Given the description of an element on the screen output the (x, y) to click on. 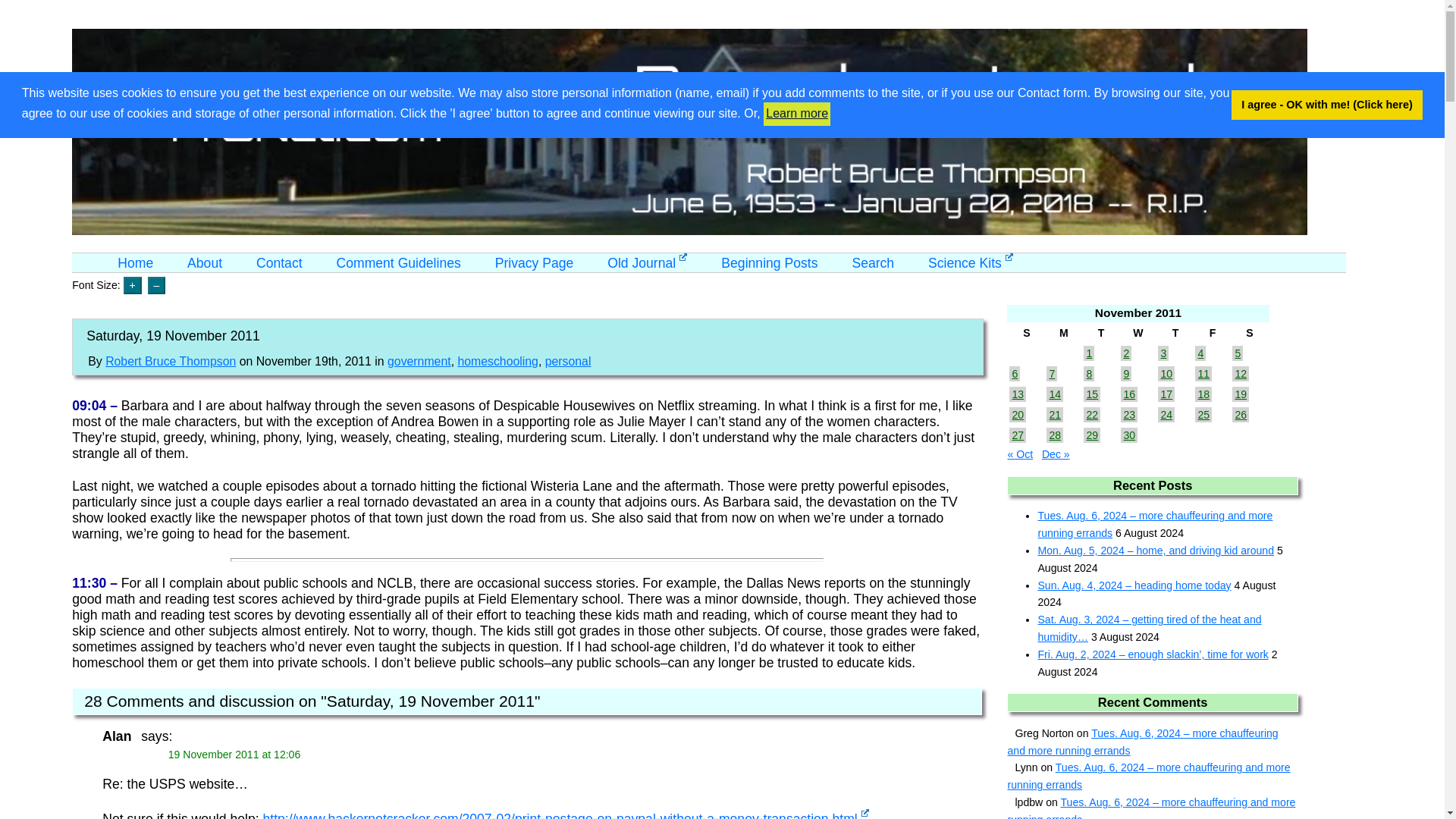
government (419, 360)
About (204, 263)
Beginning Posts (768, 263)
homeschooling (497, 360)
Search (872, 263)
Robert Bruce Thompson (169, 360)
19 November 2011 at 12:06 (234, 754)
Increase font size (132, 284)
Old Journal (647, 263)
Science Kits (970, 263)
